Given the description of an element on the screen output the (x, y) to click on. 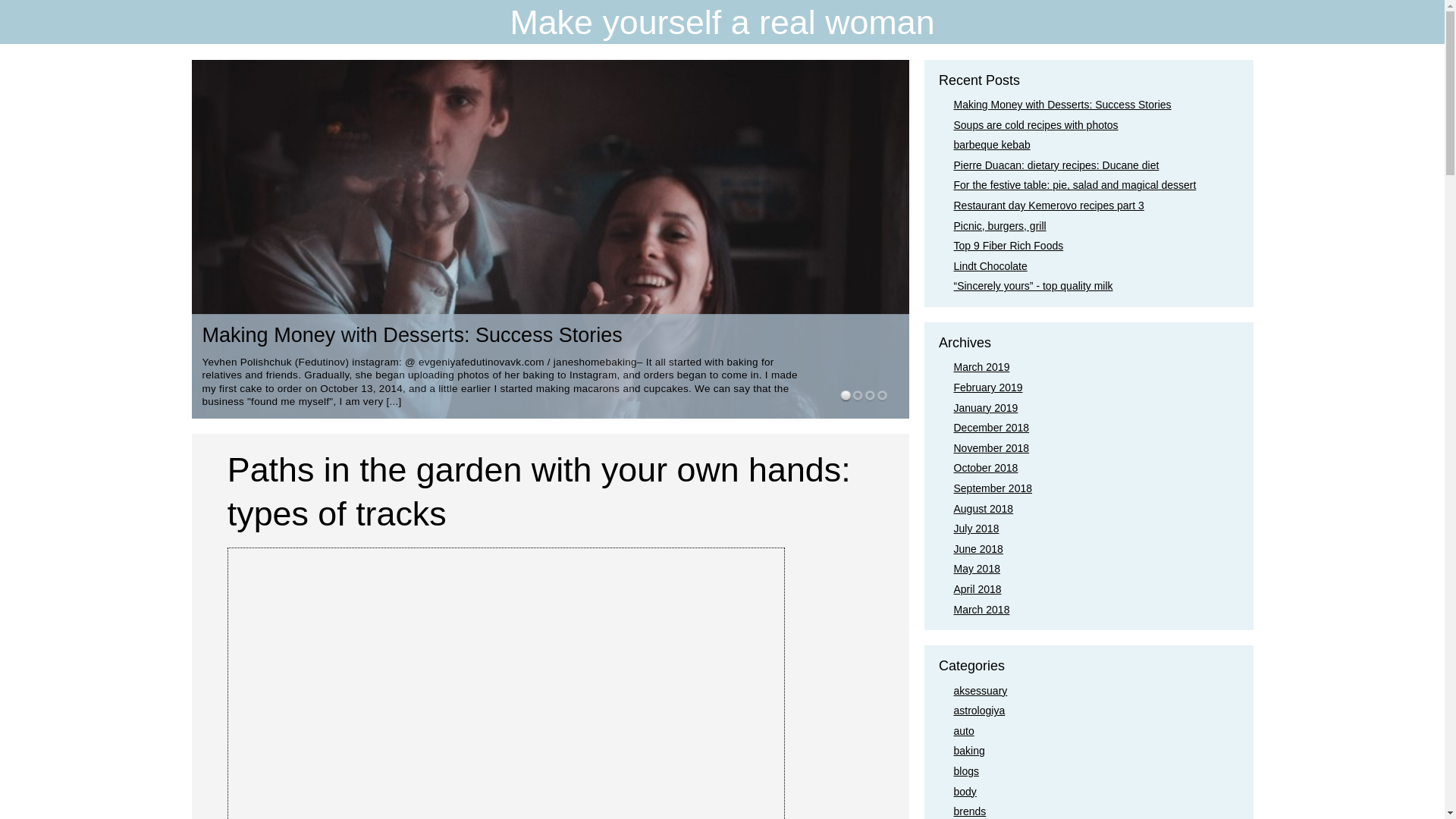
astrologiya (979, 710)
September 2018 (992, 488)
January 2019 (985, 408)
August 2018 (983, 508)
Making Money with Desserts: Success Stories (1062, 104)
brends (970, 811)
May 2018 (976, 568)
February 2019 (988, 387)
Lindt Chocolate (990, 265)
Restaurant day Kemerovo recipes part 3 (1048, 205)
April 2018 (977, 589)
December 2018 (991, 427)
auto (963, 730)
March 2018 (981, 609)
